Given the description of an element on the screen output the (x, y) to click on. 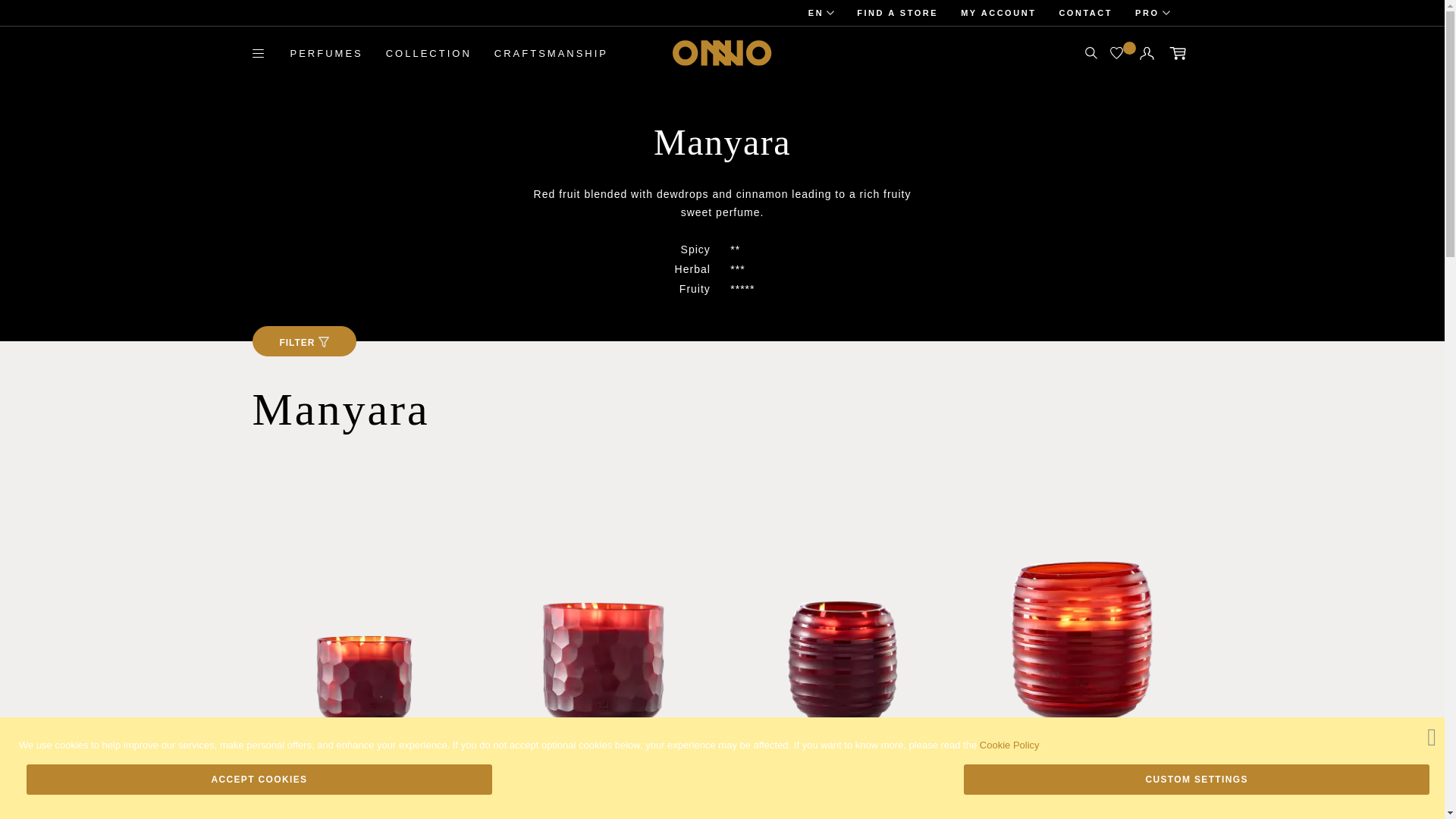
Cookie Policy (1009, 745)
Cookie Policy (1009, 745)
ACCEPT COOKIES (259, 779)
CUSTOM SETTINGS (1196, 779)
